Given the description of an element on the screen output the (x, y) to click on. 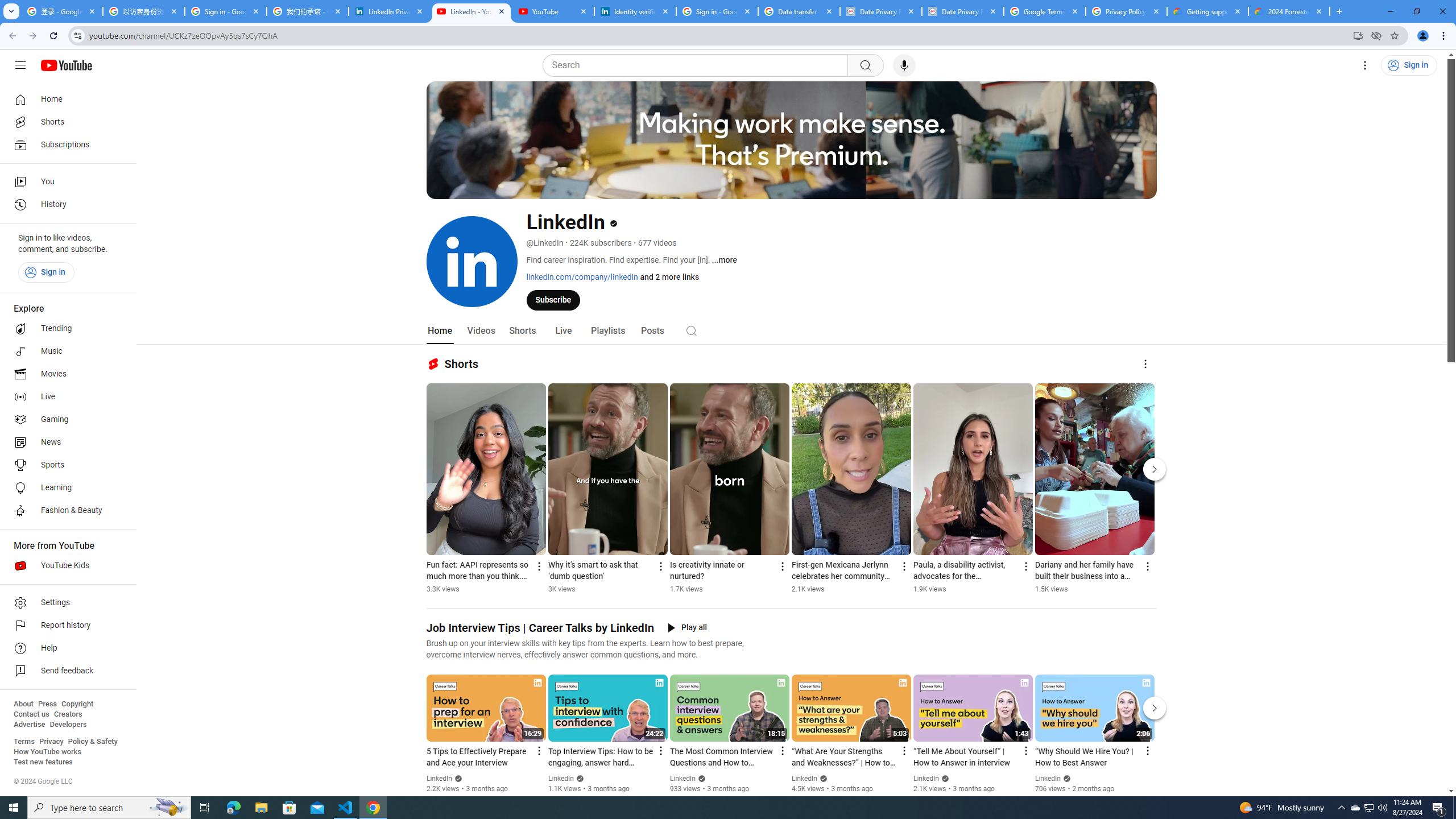
and 2 more links (668, 276)
Settings (64, 602)
Data Privacy Framework (880, 11)
YouTube Kids (64, 565)
Send feedback (64, 671)
Advertise (29, 724)
Help (64, 648)
Close (1318, 11)
Fashion & Beauty (64, 510)
Sign in - Google Accounts (716, 11)
